Given the description of an element on the screen output the (x, y) to click on. 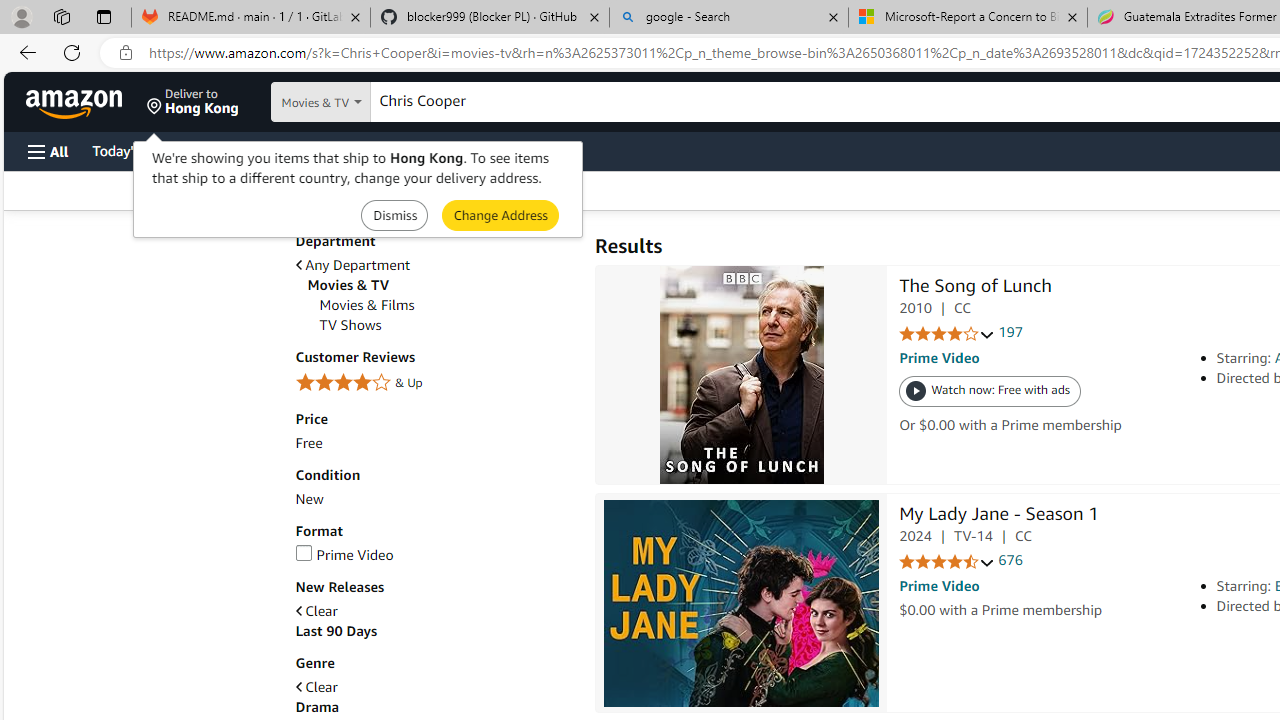
4.6 out of 5 stars (946, 562)
New (308, 499)
Deliver to Hong Kong (193, 101)
4 Stars & Up& Up (434, 384)
Sell (509, 150)
Prime Video (344, 555)
Dismiss (394, 214)
Free (308, 443)
Any Department (352, 265)
197 (1010, 332)
